Given the description of an element on the screen output the (x, y) to click on. 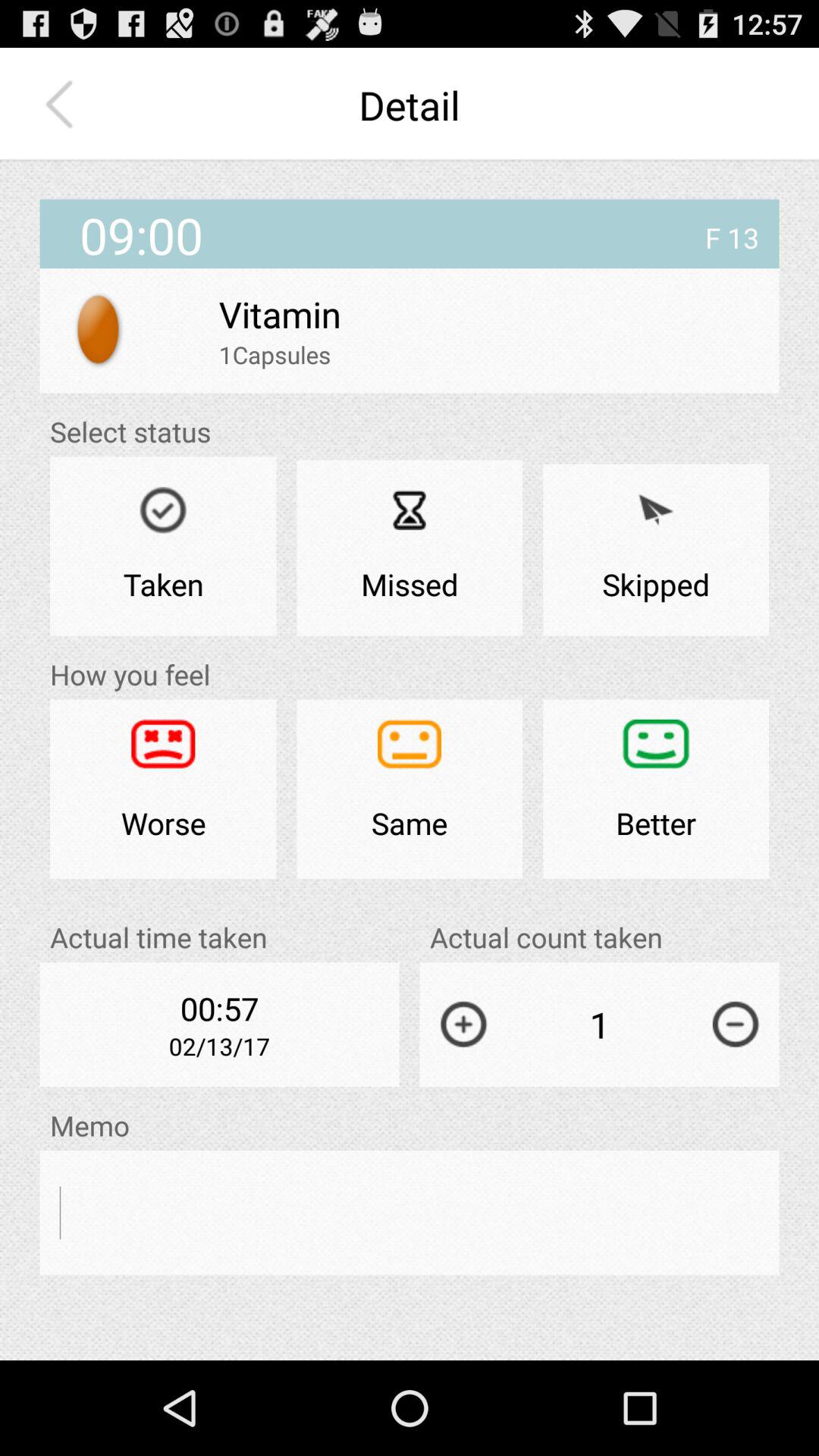
scroll to the same (409, 788)
